Given the description of an element on the screen output the (x, y) to click on. 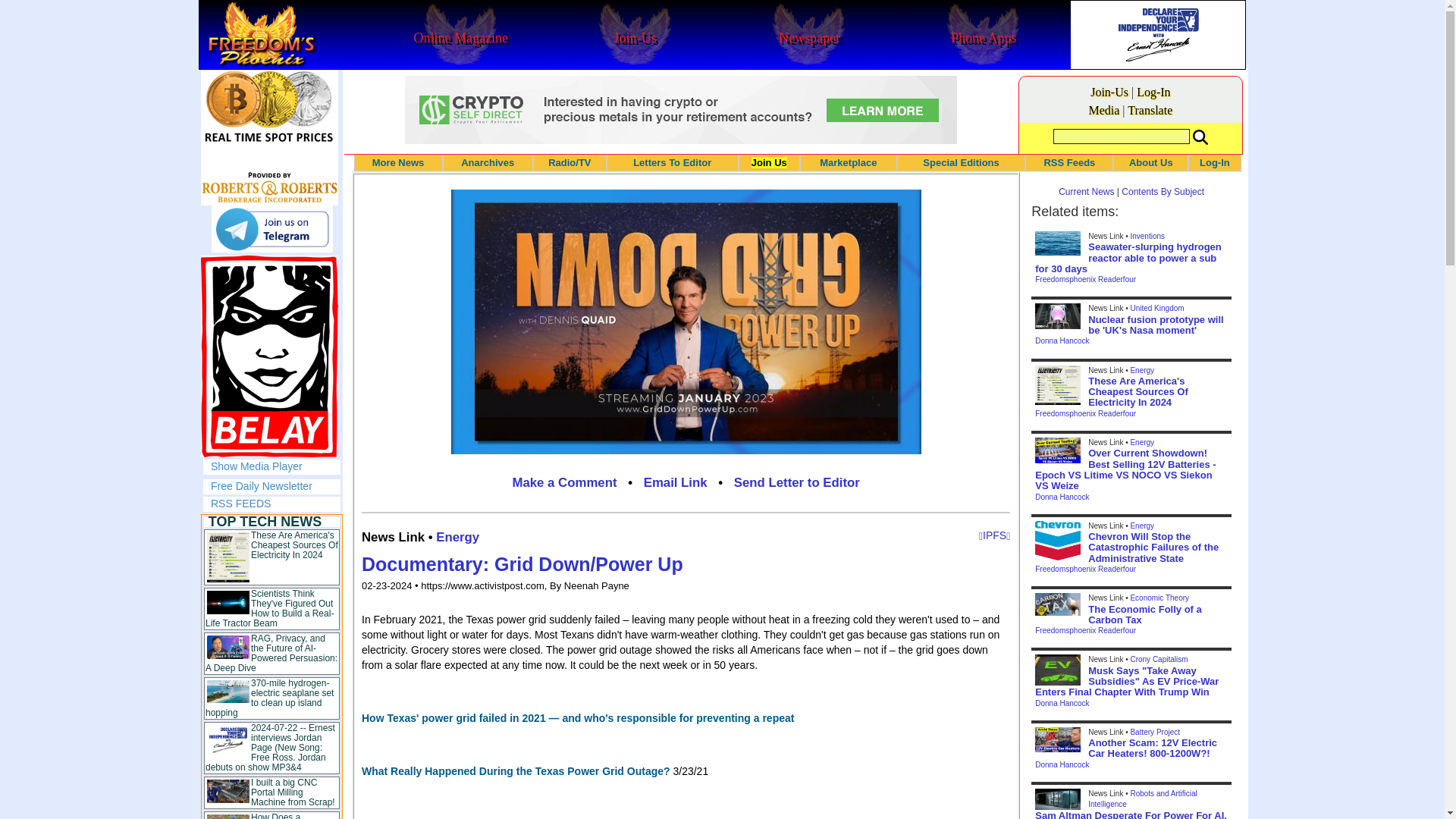
Declare Your Independence on Telegram (271, 229)
Top Links (271, 666)
TOP TECH NEWS (264, 521)
Show Media Player (256, 466)
RSS FEEDS (240, 503)
Free Daily Newsletter (262, 485)
These Are America's Cheapest Sources Of Electricity In 2024 (293, 544)
